Given the description of an element on the screen output the (x, y) to click on. 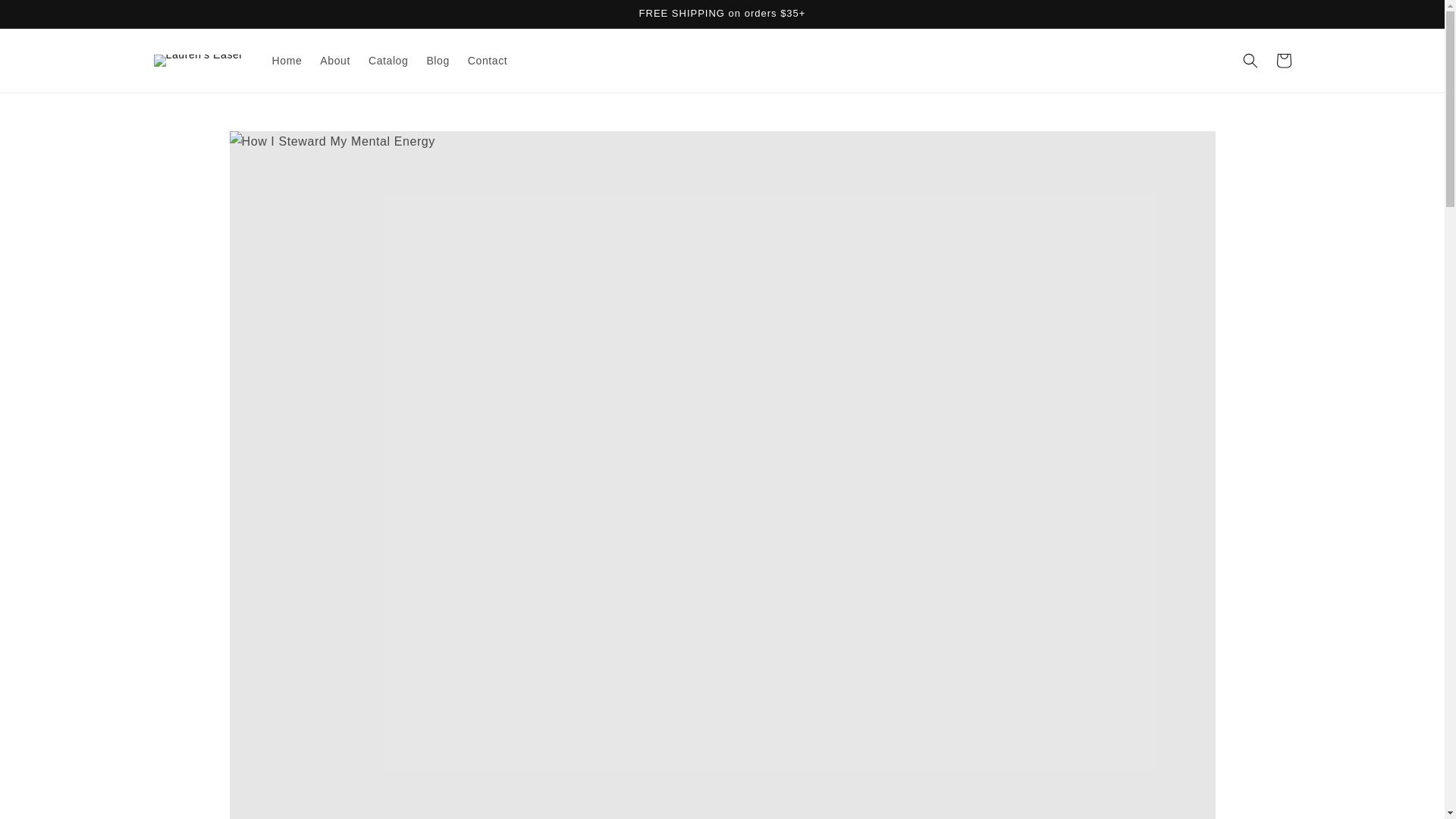
Cart (1283, 60)
About (335, 60)
Skip to content (45, 16)
Blog (437, 60)
Home (287, 60)
Contact (487, 60)
Catalog (387, 60)
